Given the description of an element on the screen output the (x, y) to click on. 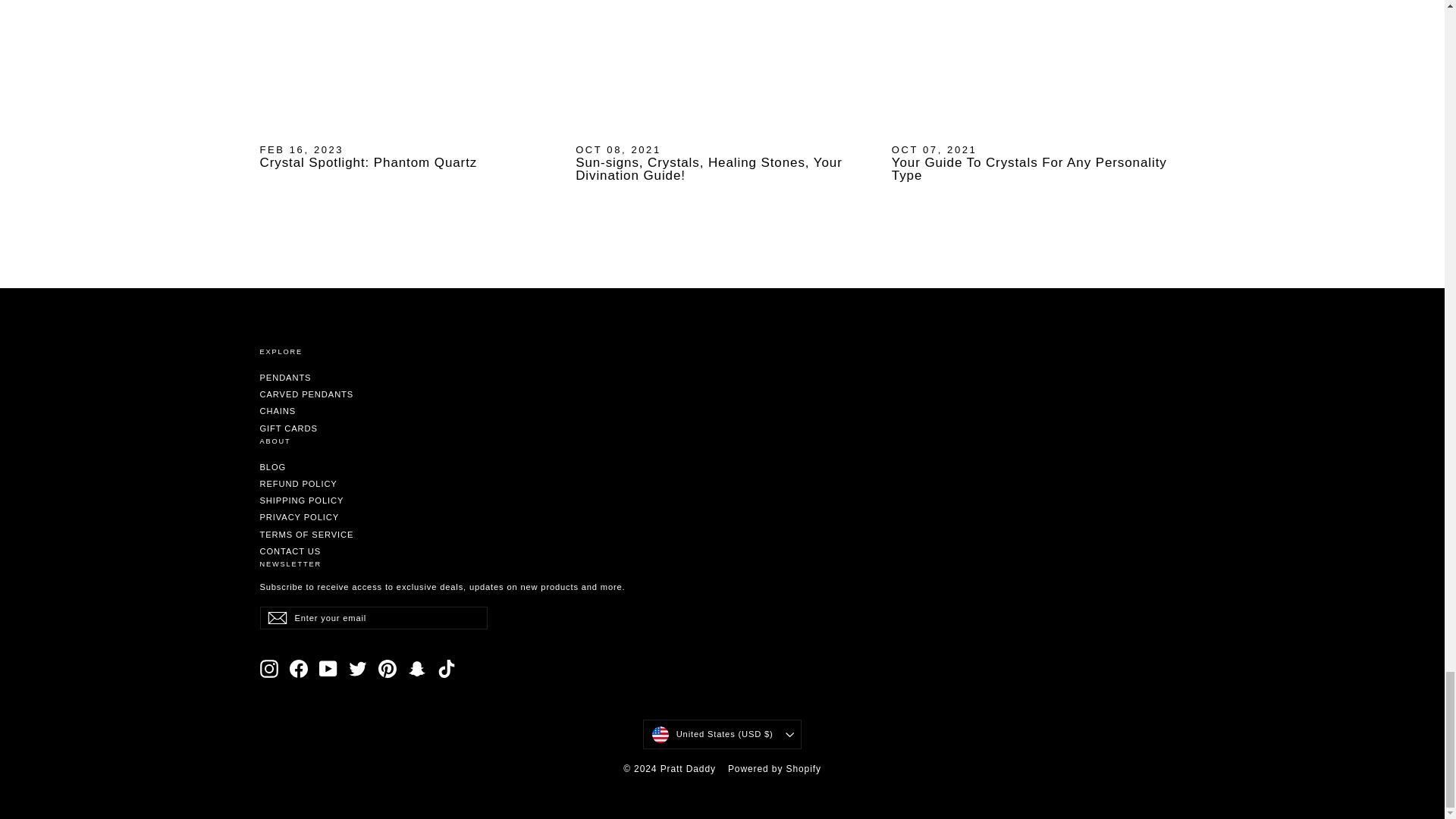
Pratt Daddy on Instagram (268, 669)
Pratt Daddy on Twitter (357, 669)
Pratt Daddy on Snapchat (416, 669)
Pratt Daddy on Pinterest (386, 669)
Pratt Daddy on TikTok (445, 669)
Pratt Daddy on Facebook (298, 669)
Pratt Daddy on YouTube (327, 669)
